Given the description of an element on the screen output the (x, y) to click on. 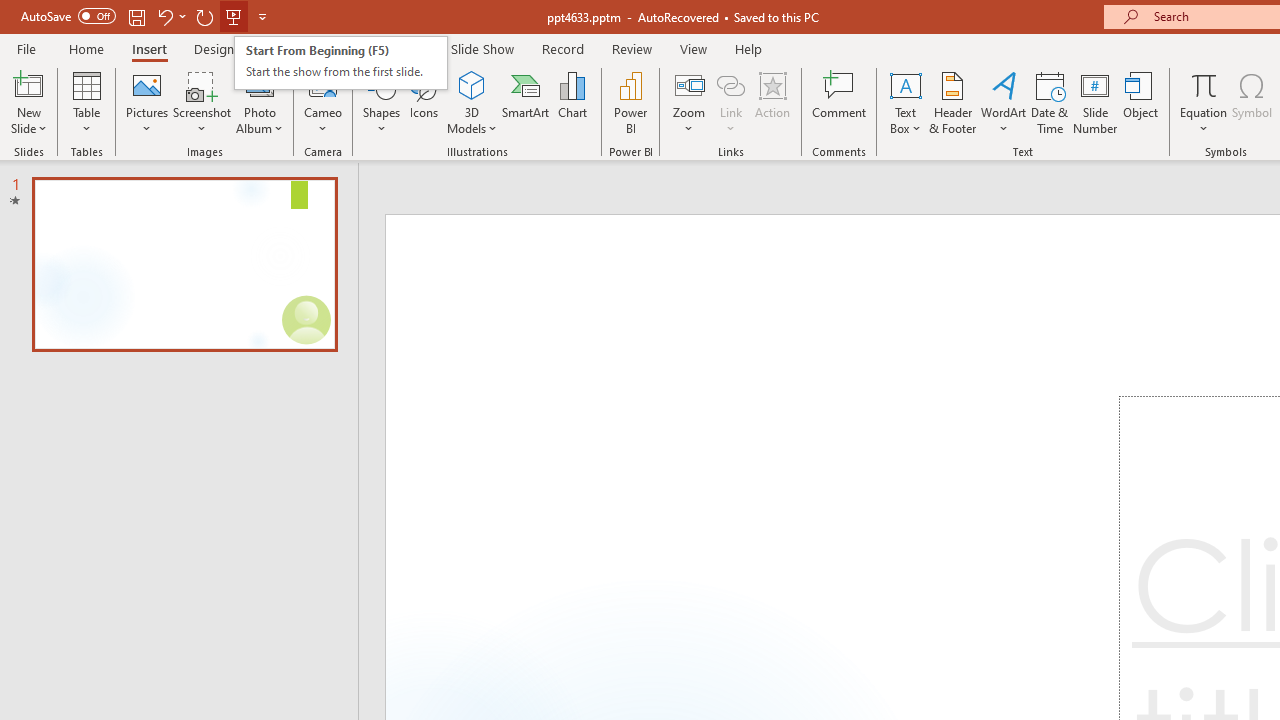
Object... (1141, 102)
Action (772, 102)
3D Models (472, 102)
Equation (1203, 102)
